Given the description of an element on the screen output the (x, y) to click on. 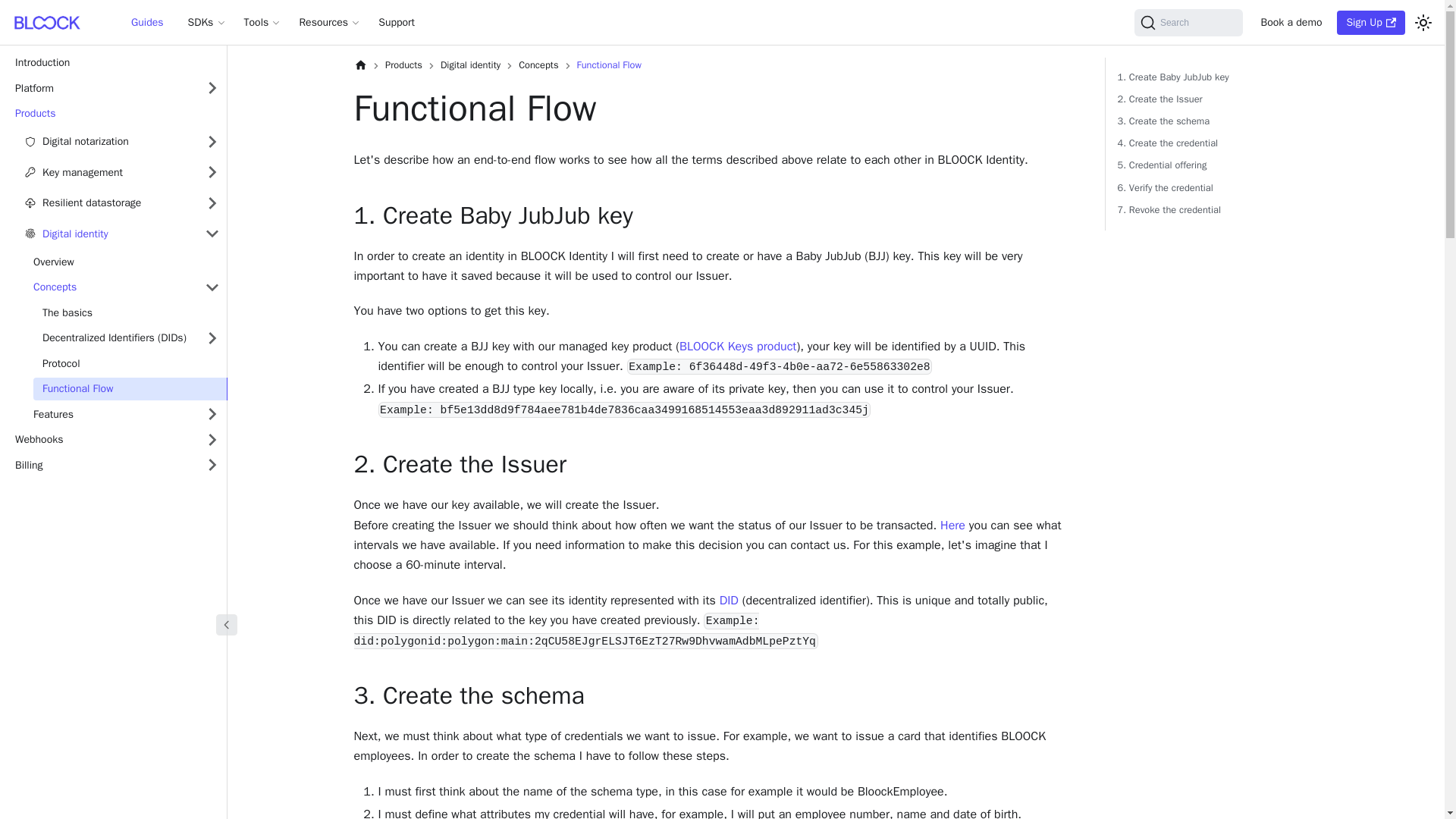
Functional Flow (130, 388)
Concepts (125, 287)
Resilient datastorage (120, 203)
Resources (328, 22)
The basics (130, 313)
Webhooks (116, 439)
Products (116, 113)
Search (1188, 22)
Digital notarization (120, 141)
Book a demo (1292, 22)
